Given the description of an element on the screen output the (x, y) to click on. 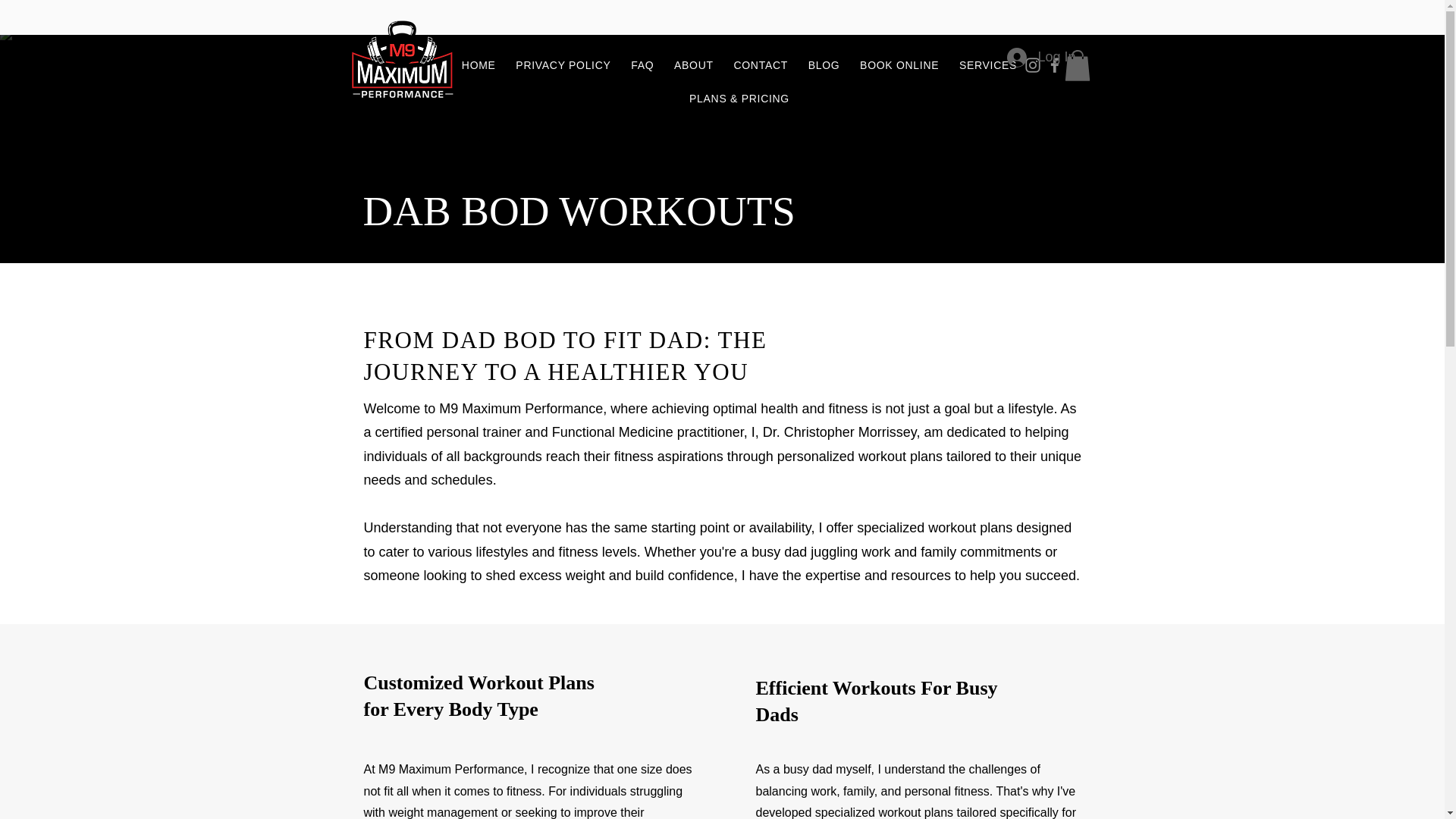
ABOUT (693, 64)
BOOK ONLINE (899, 64)
HOME (478, 64)
CONTACT (760, 64)
PRIVACY POLICY (563, 64)
Log In (1040, 57)
BLOG (823, 64)
FAQ (642, 64)
